Given the description of an element on the screen output the (x, y) to click on. 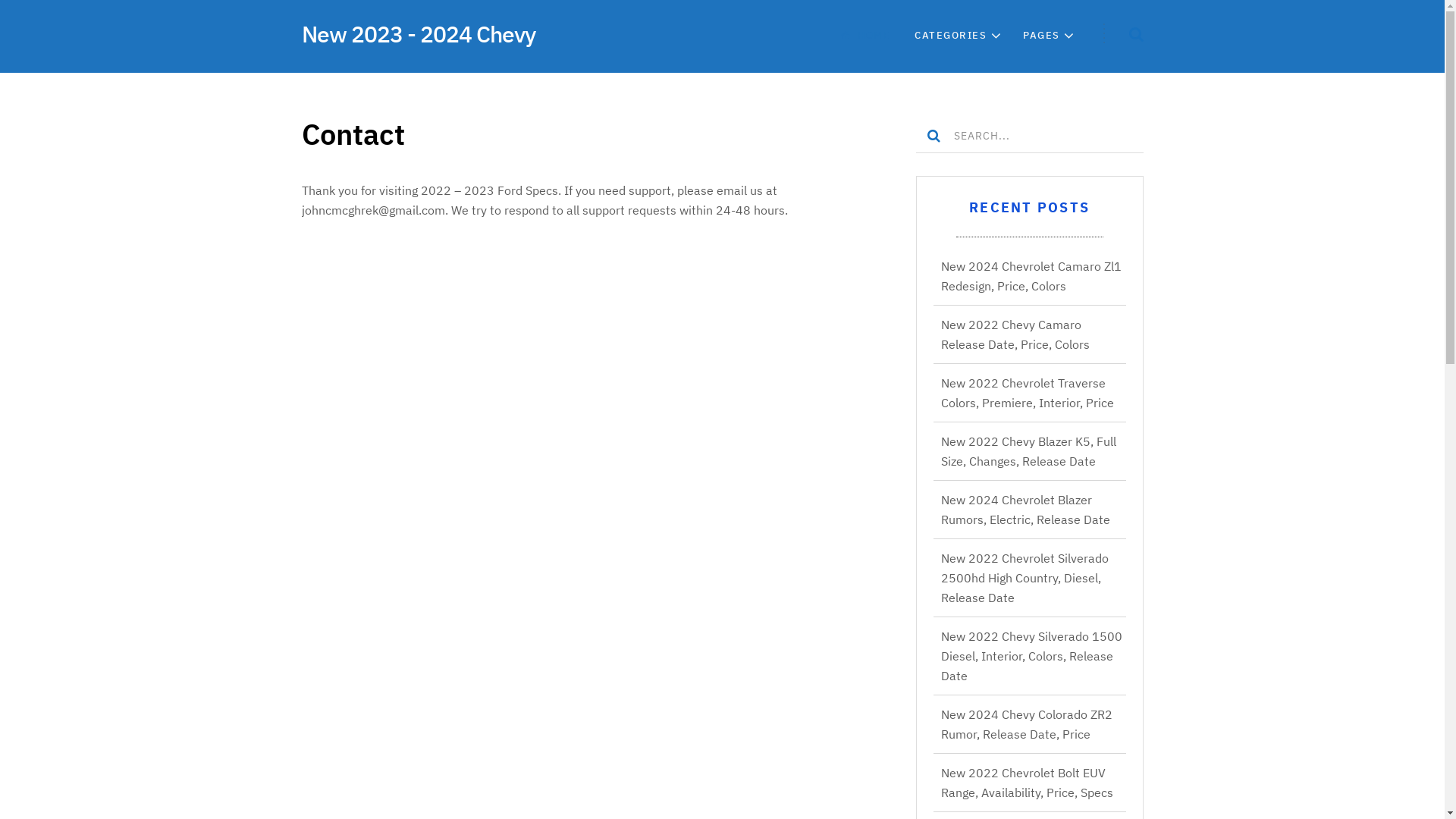
New 2024 Chevrolet Blazer Rumors, Electric, Release Date Element type: text (1024, 509)
HOME Element type: text (865, 35)
New 2024 Chevrolet Camaro Zl1 Redesign, Price, Colors Element type: text (1030, 275)
New 2022 Chevy Camaro Release Date, Price, Colors Element type: text (1014, 333)
New 2024 Chevy Colorado ZR2 Rumor, Release Date, Price Element type: text (1025, 723)
New 2023 - 2024 Chevy Element type: text (418, 33)
CATEGORIES Element type: text (950, 35)
New 2022 Chevy Blazer K5, Full Size, Changes, Release Date Element type: text (1027, 450)
PAGES Element type: text (1041, 35)
